Given the description of an element on the screen output the (x, y) to click on. 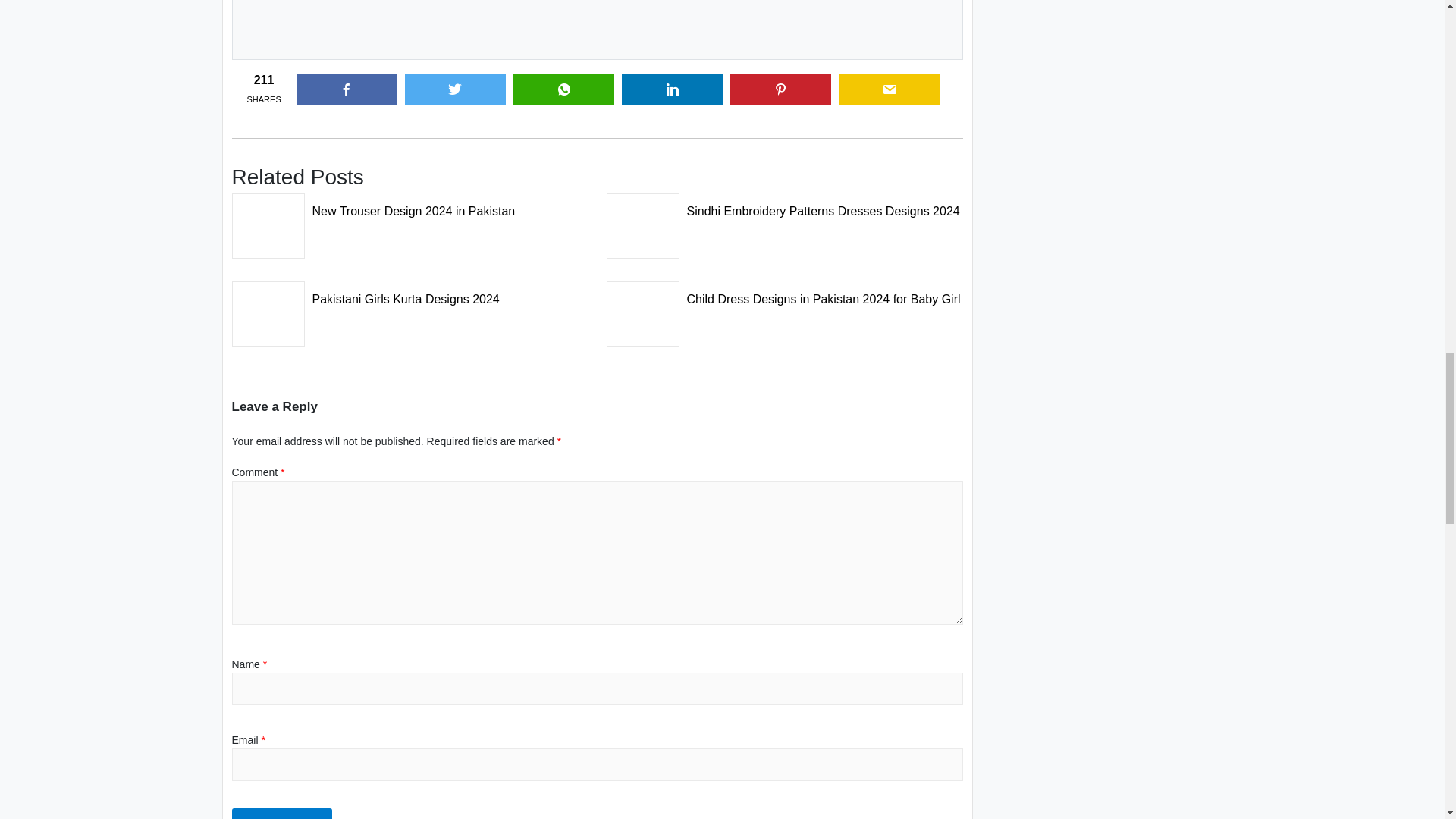
Child Dress Designs in Pakistan 2024 for Baby Girl (784, 294)
Post Comment (282, 813)
Pakistani Girls Kurta Designs 2024 (409, 294)
New Trouser Design 2024 in Pakistan (409, 206)
Post Comment (282, 813)
Sindhi Embroidery Patterns Dresses Designs 2024 (784, 206)
